Given the description of an element on the screen output the (x, y) to click on. 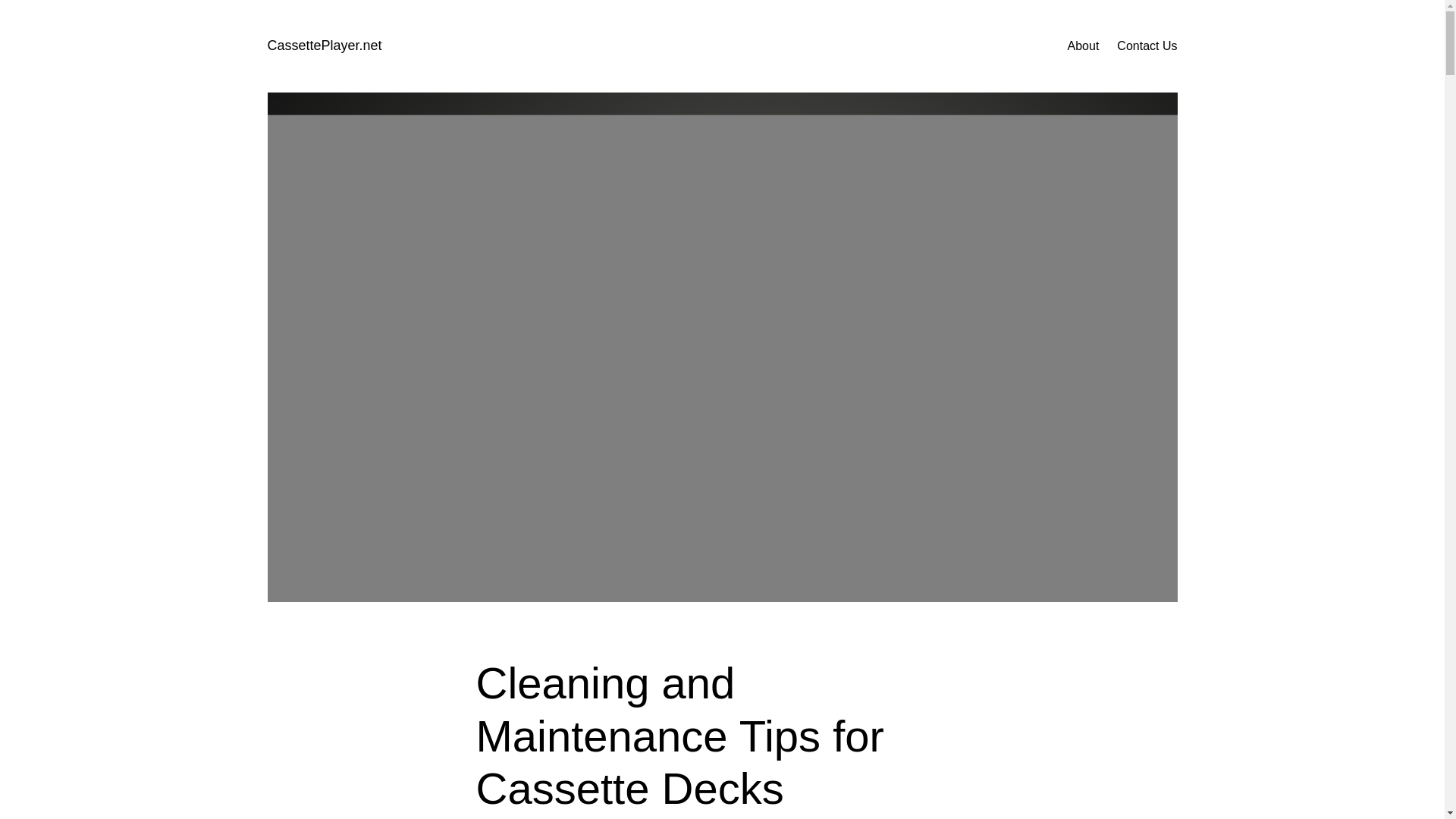
CassettePlayer.net (323, 45)
Contact Us (1146, 46)
About (1083, 46)
